Given the description of an element on the screen output the (x, y) to click on. 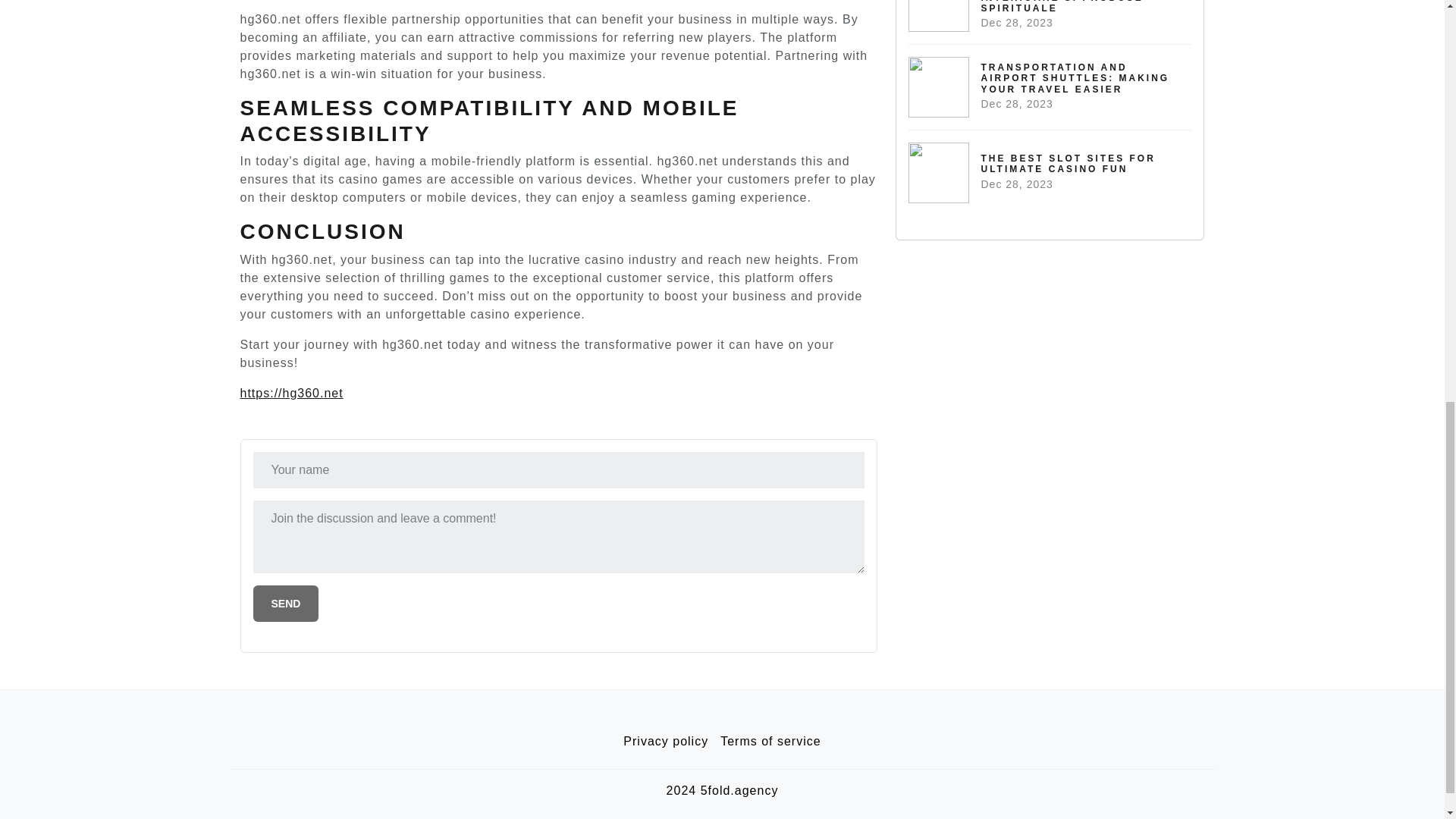
Send (285, 603)
Terms of service (1050, 172)
Privacy policy (770, 741)
Send (665, 741)
